Given the description of an element on the screen output the (x, y) to click on. 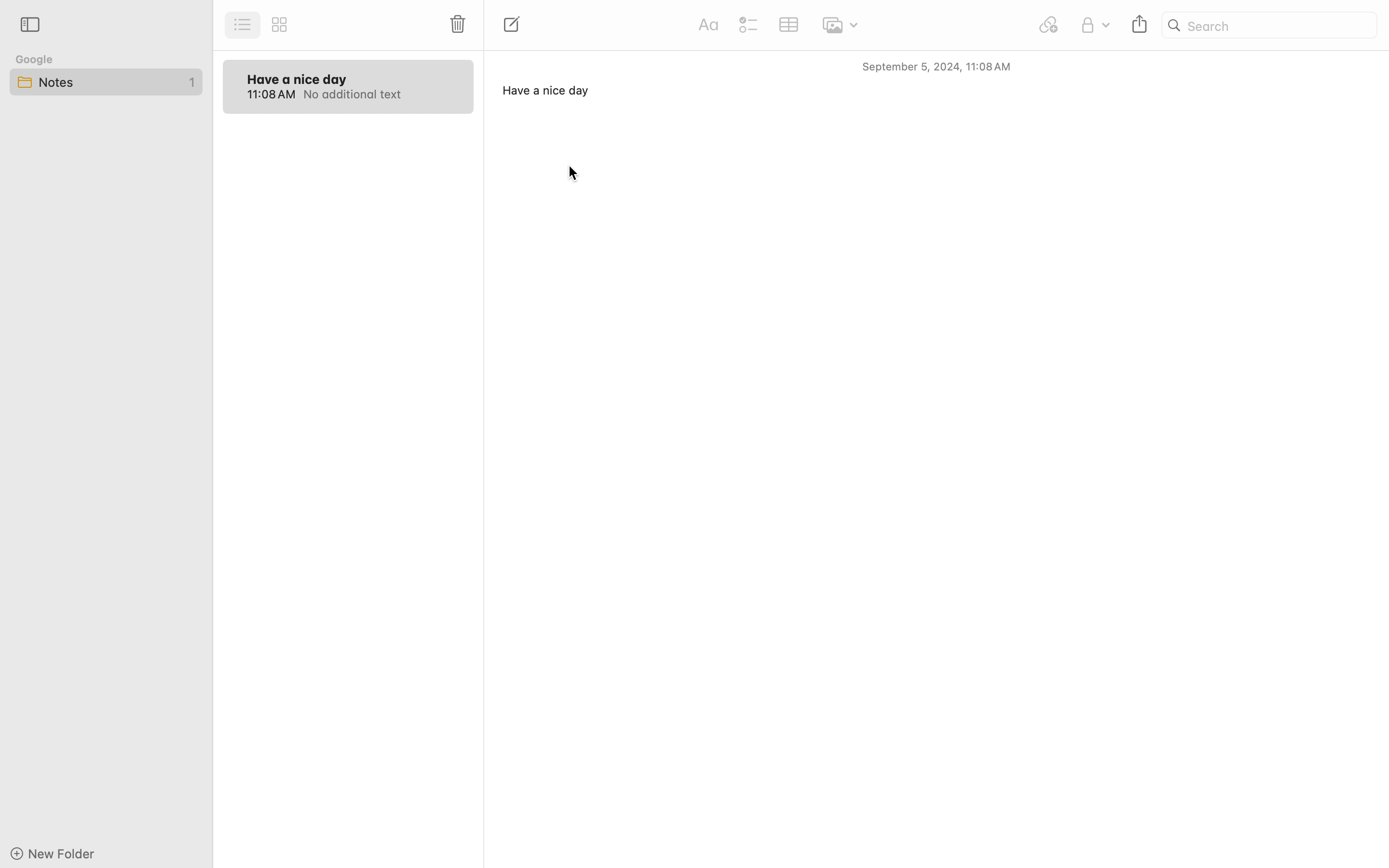
Have a nice day Element type: AXStaticText (296, 78)
11:08 AM Element type: AXStaticText (271, 93)
<AXUIElement 0x155779cd0> {pid=1298} Element type: AXRadioGroup (260, 24)
No additional text Element type: AXStaticText (376, 93)
